Given the description of an element on the screen output the (x, y) to click on. 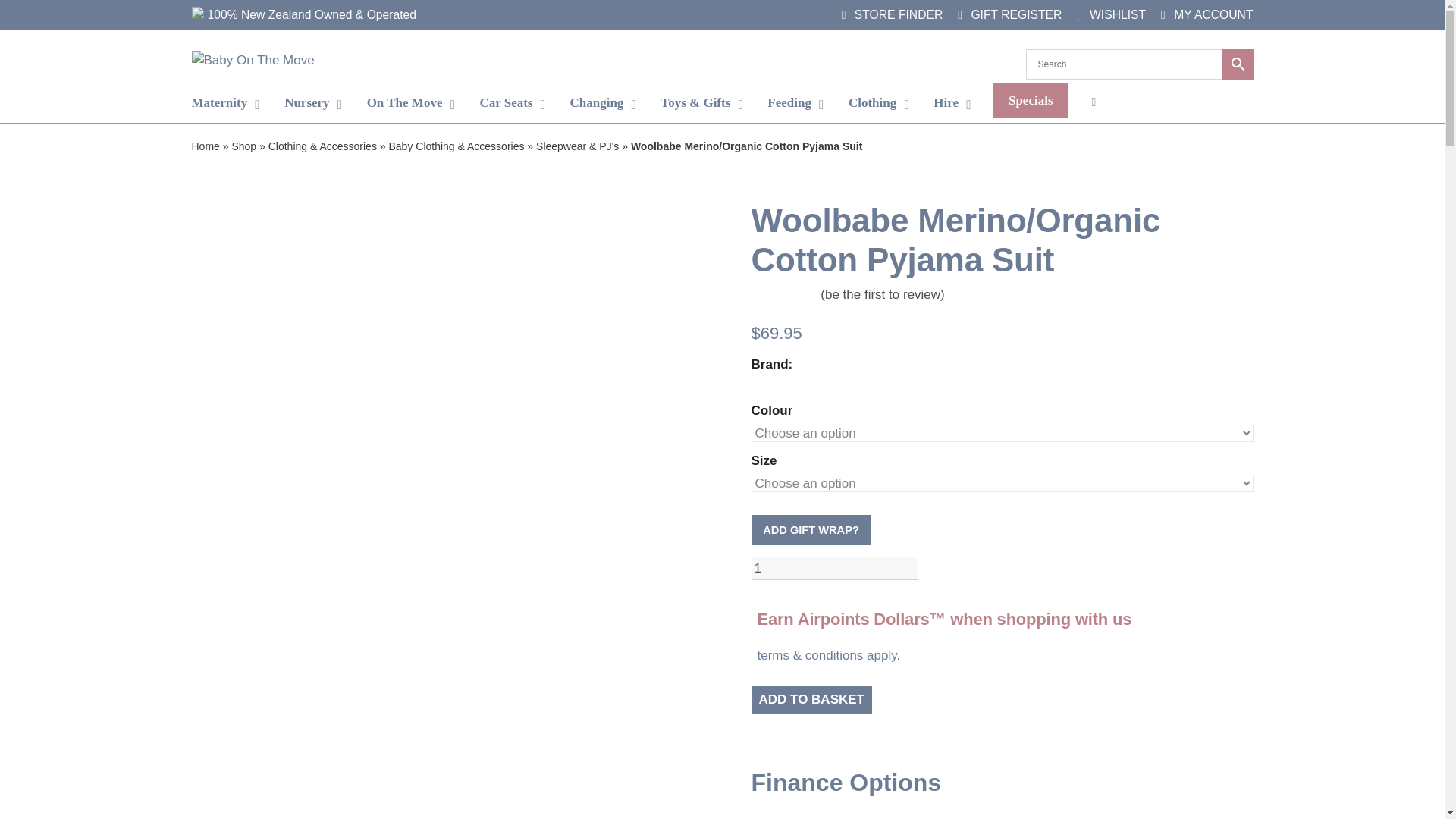
1 (834, 568)
MY ACCOUNT (1206, 14)
Nursery (312, 102)
STORE FINDER (892, 14)
GIFT REGISTER (1009, 14)
Maternity (225, 102)
WISHLIST (1111, 14)
